Given the description of an element on the screen output the (x, y) to click on. 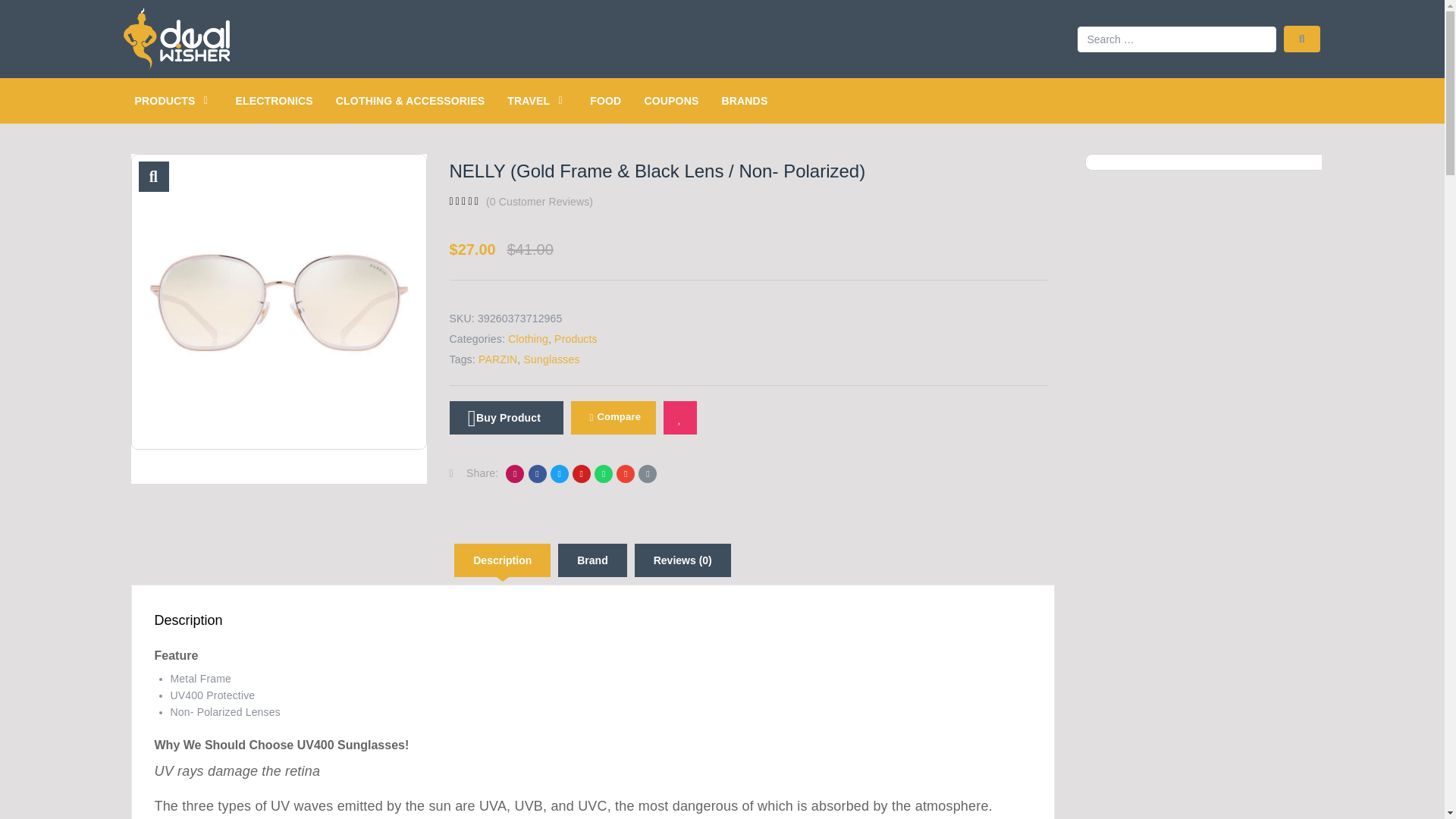
Compare (613, 417)
Products (575, 338)
FOOD (605, 100)
COUPONS (670, 100)
Clothing (528, 338)
TRAVEL (528, 100)
ELECTRONICS (273, 100)
PARZIN (497, 358)
BRANDS (743, 100)
Buy Product (505, 417)
PRODUCTS (165, 100)
Sunglasses (550, 358)
